Given the description of an element on the screen output the (x, y) to click on. 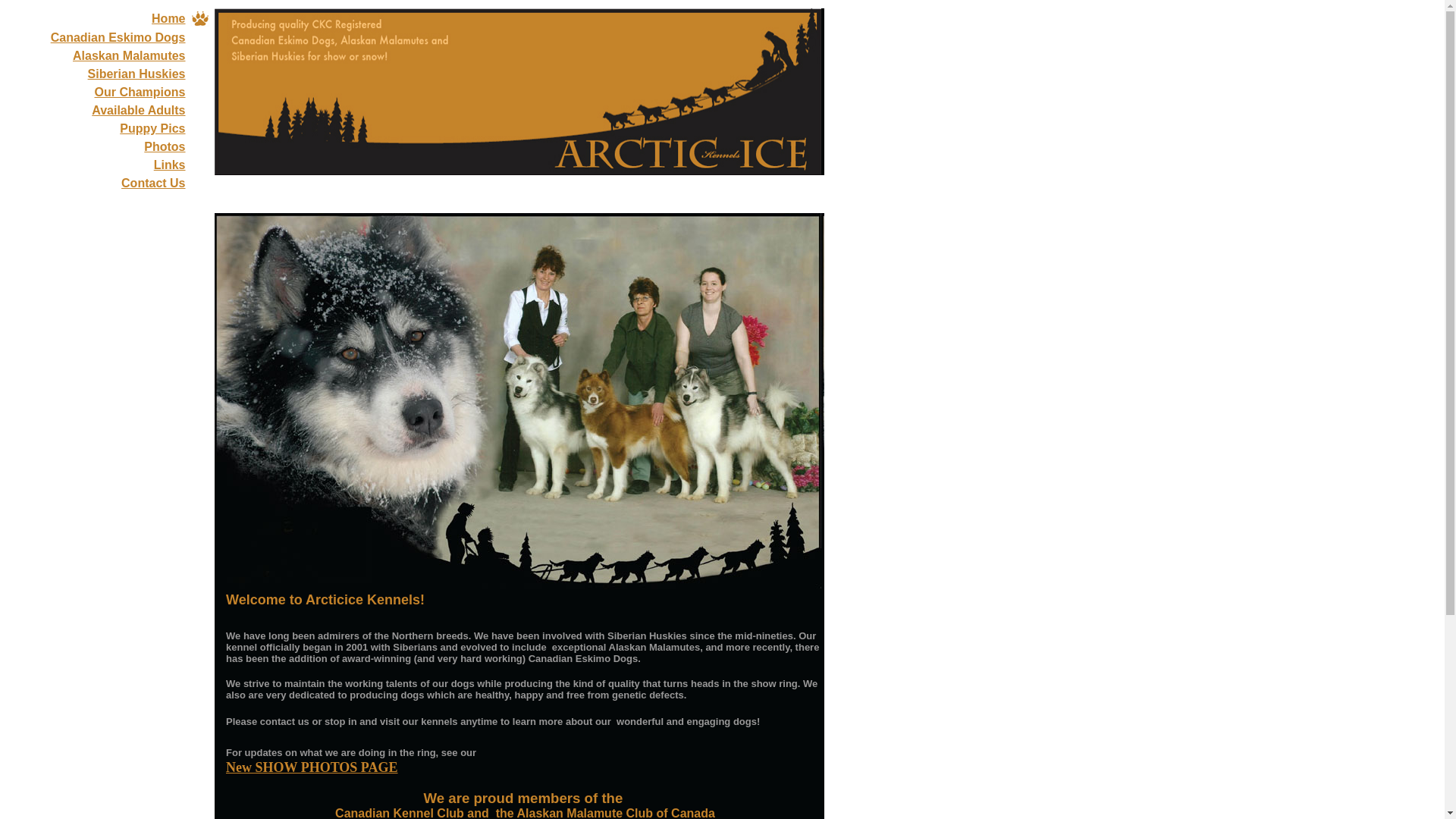
Available Adults (137, 110)
Alaskan Malamutes (129, 55)
New SHOW PHOTOS PAGE (311, 767)
Photos (164, 146)
Links (170, 164)
Our Champions (139, 91)
Canadian Eskimo Dogs (118, 37)
Contact Us (152, 182)
Puppy Pics (151, 128)
Home (167, 18)
